Given the description of an element on the screen output the (x, y) to click on. 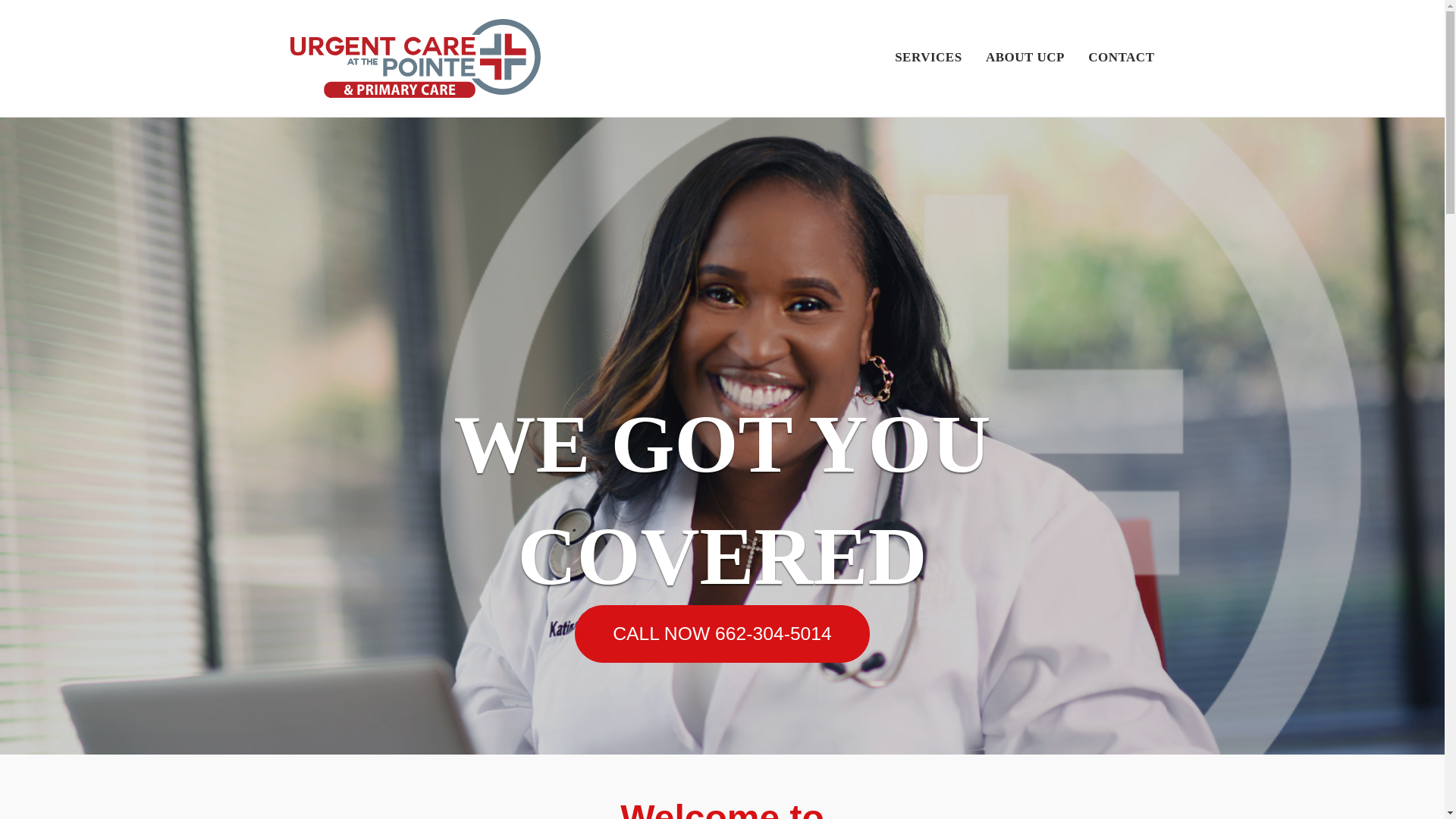
SERVICES (928, 59)
CALL NOW 662-304-5014 (722, 633)
CONTACT (1120, 59)
ABOUT UCP (1024, 59)
